Given the description of an element on the screen output the (x, y) to click on. 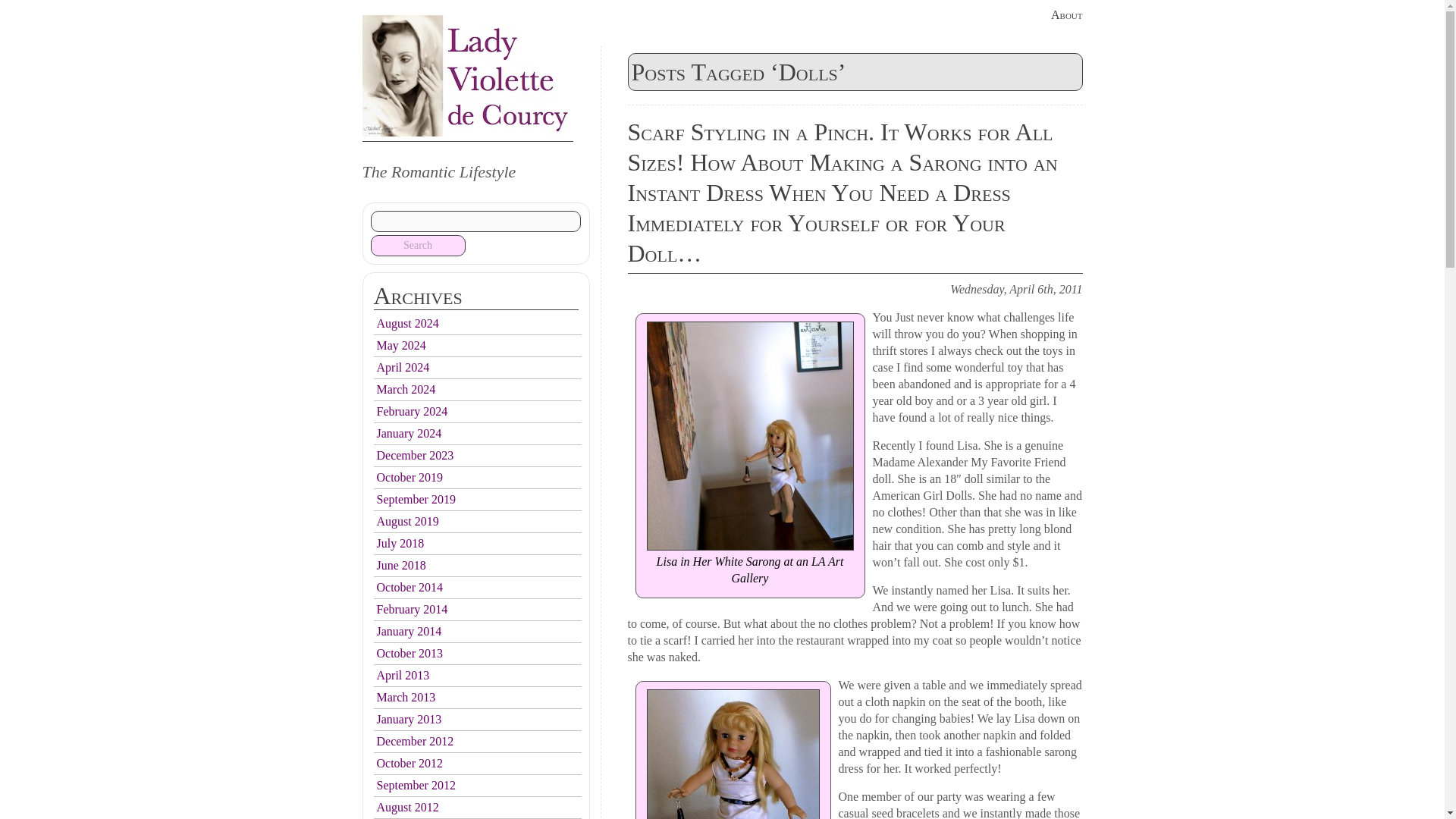
January 2024 (408, 432)
CIMG4491 (749, 435)
About (1067, 14)
June 2018 (400, 564)
Lady Violette (467, 75)
February 2014 (410, 608)
October 2014 (408, 586)
Search (416, 245)
December 2023 (413, 454)
October 2019 (408, 477)
